Given the description of an element on the screen output the (x, y) to click on. 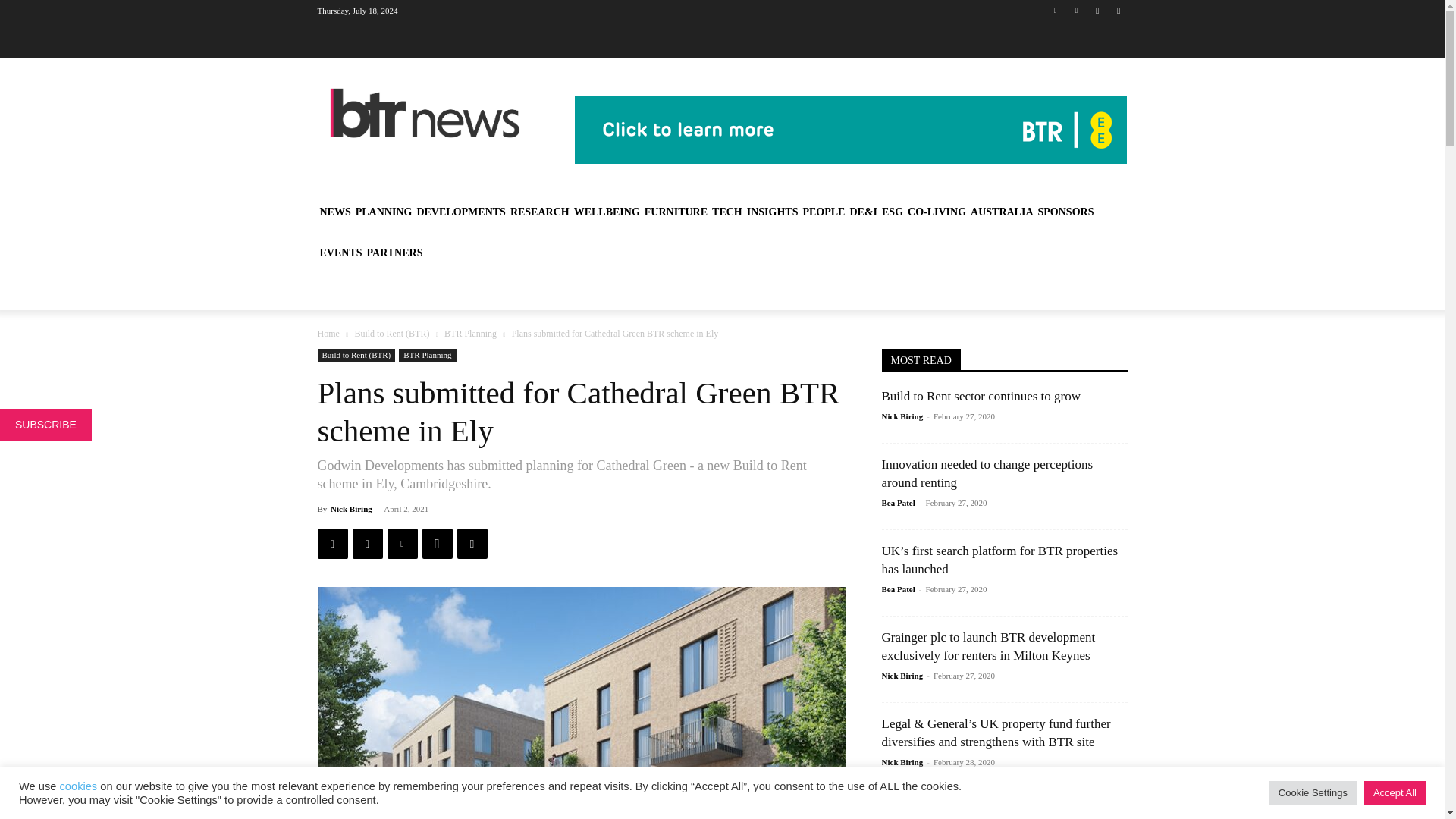
Instagram (1117, 9)
Twitter (1075, 9)
Linkedin (1055, 9)
Facebook (1097, 9)
BTR News (425, 113)
